Given the description of an element on the screen output the (x, y) to click on. 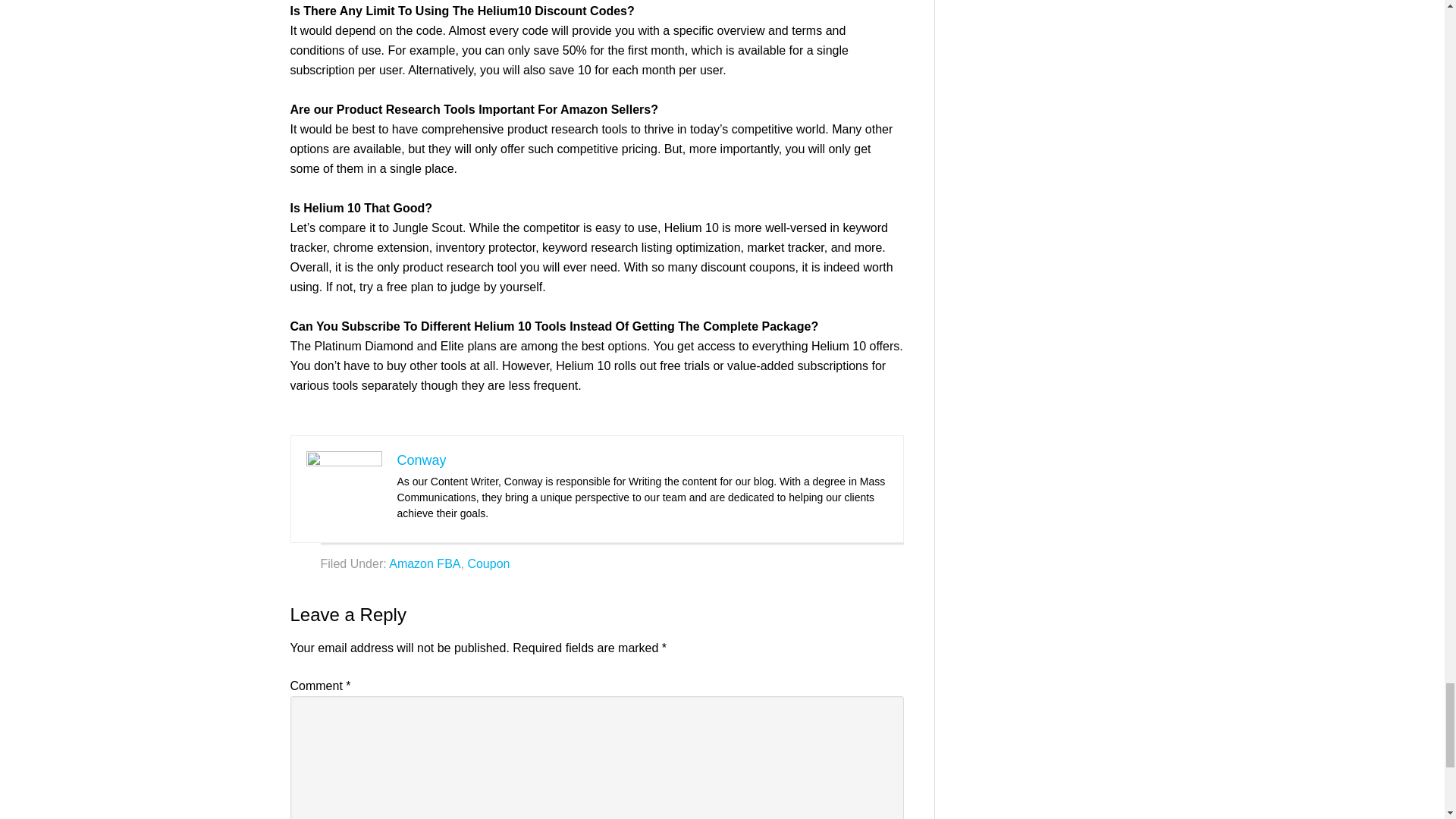
Amazon FBA (424, 563)
Conway (421, 459)
Coupon (488, 563)
